Given the description of an element on the screen output the (x, y) to click on. 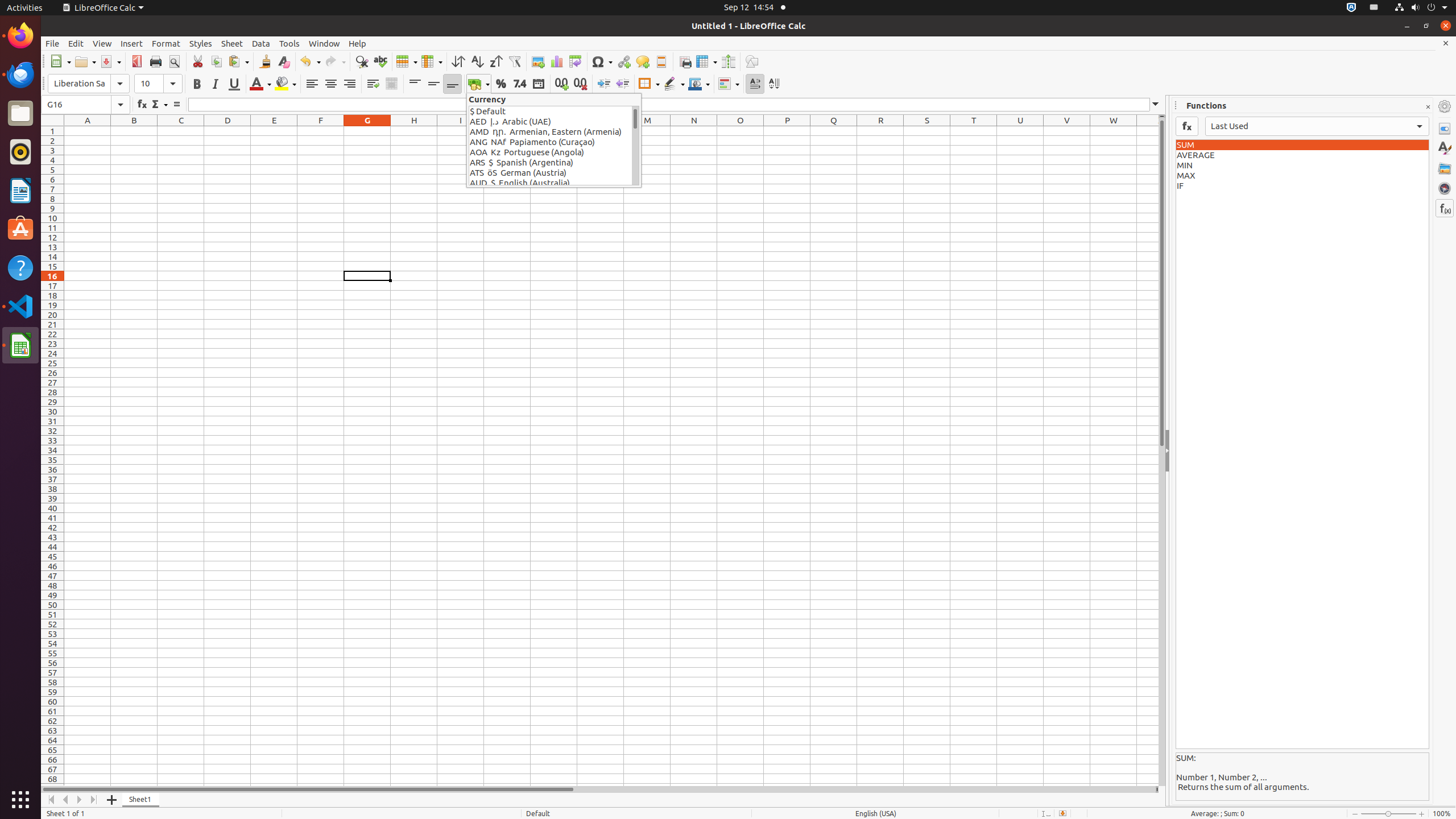
Ubuntu Software Element type: push-button (20, 229)
Styles Element type: menu (200, 43)
Functions Element type: radio-button (1444, 208)
Print Element type: push-button (155, 61)
C1 Element type: table-cell (180, 130)
